Given the description of an element on the screen output the (x, y) to click on. 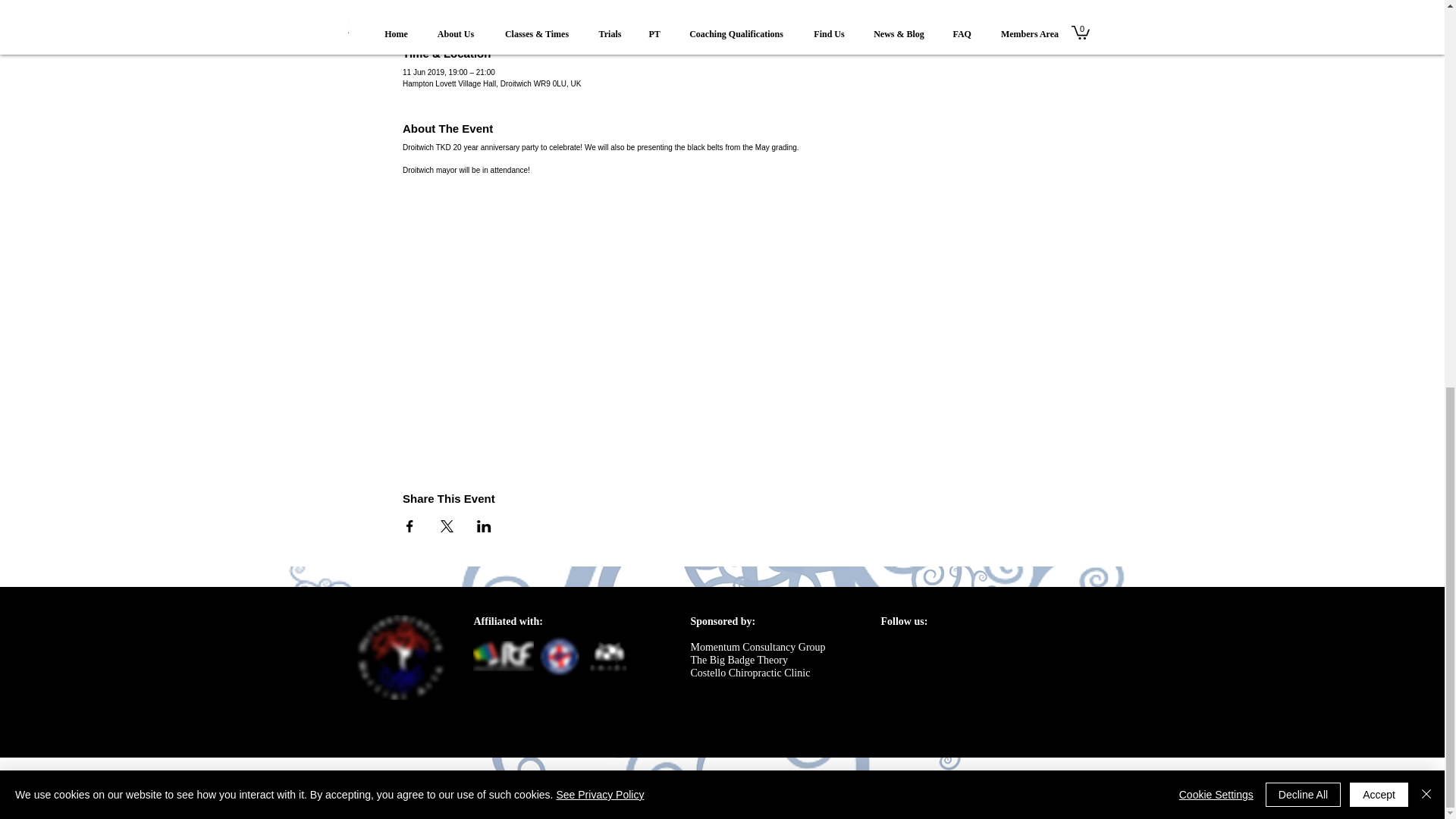
See Privacy Policy (599, 61)
Decline All (1302, 61)
Accept (1378, 61)
